Given the description of an element on the screen output the (x, y) to click on. 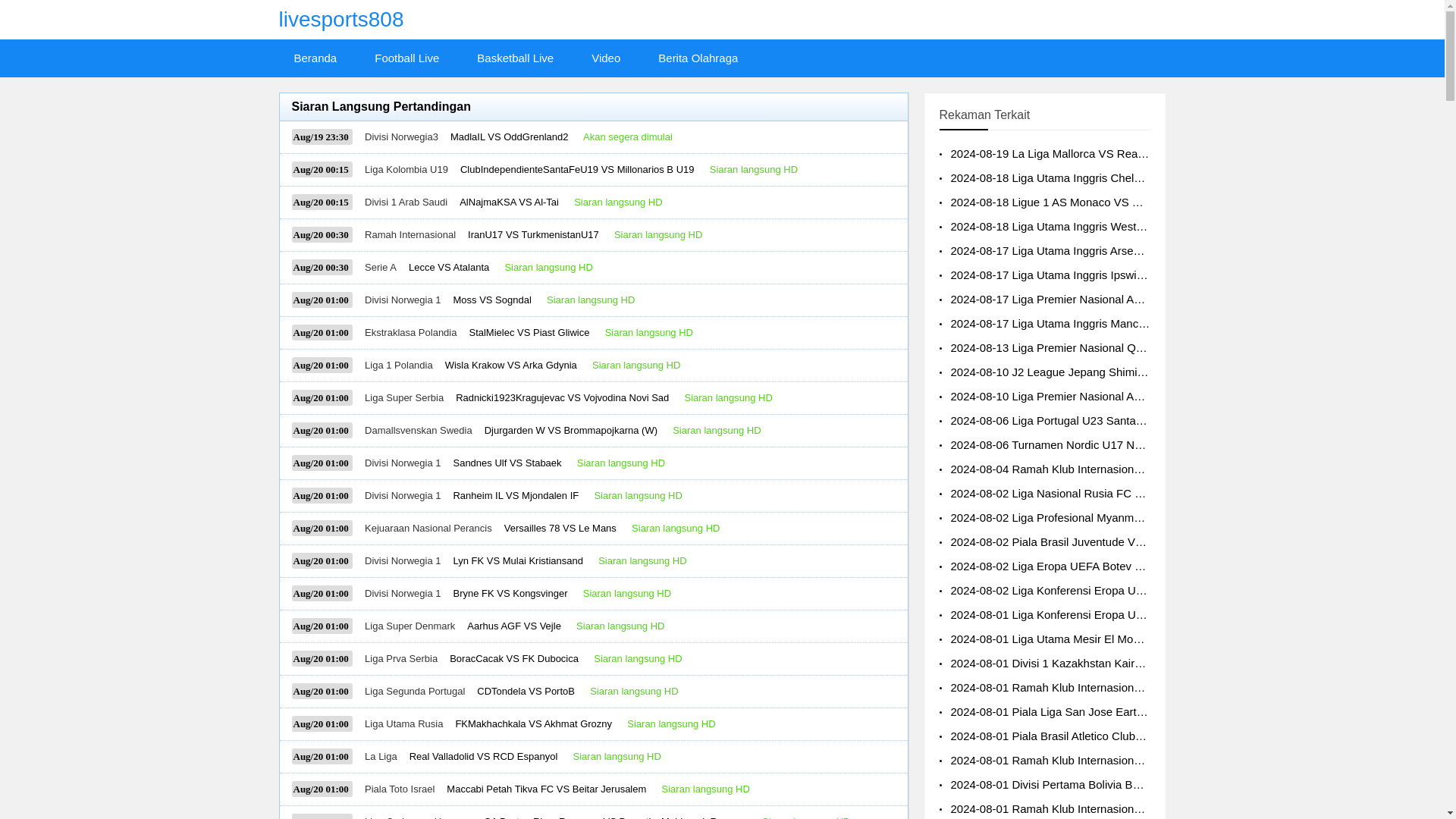
Divisi Norwegia 1 (403, 560)
Video (605, 57)
Ekstraklasa Polandia (411, 332)
Siaran langsung HD (649, 332)
Kejuaraan Nasional Perancis (428, 527)
Serie A (380, 266)
Kejuaraan Nasional Perancis (428, 527)
Football Live (406, 57)
Damallsvenskan Swedia (418, 430)
Berita Olahraga (697, 57)
